Given the description of an element on the screen output the (x, y) to click on. 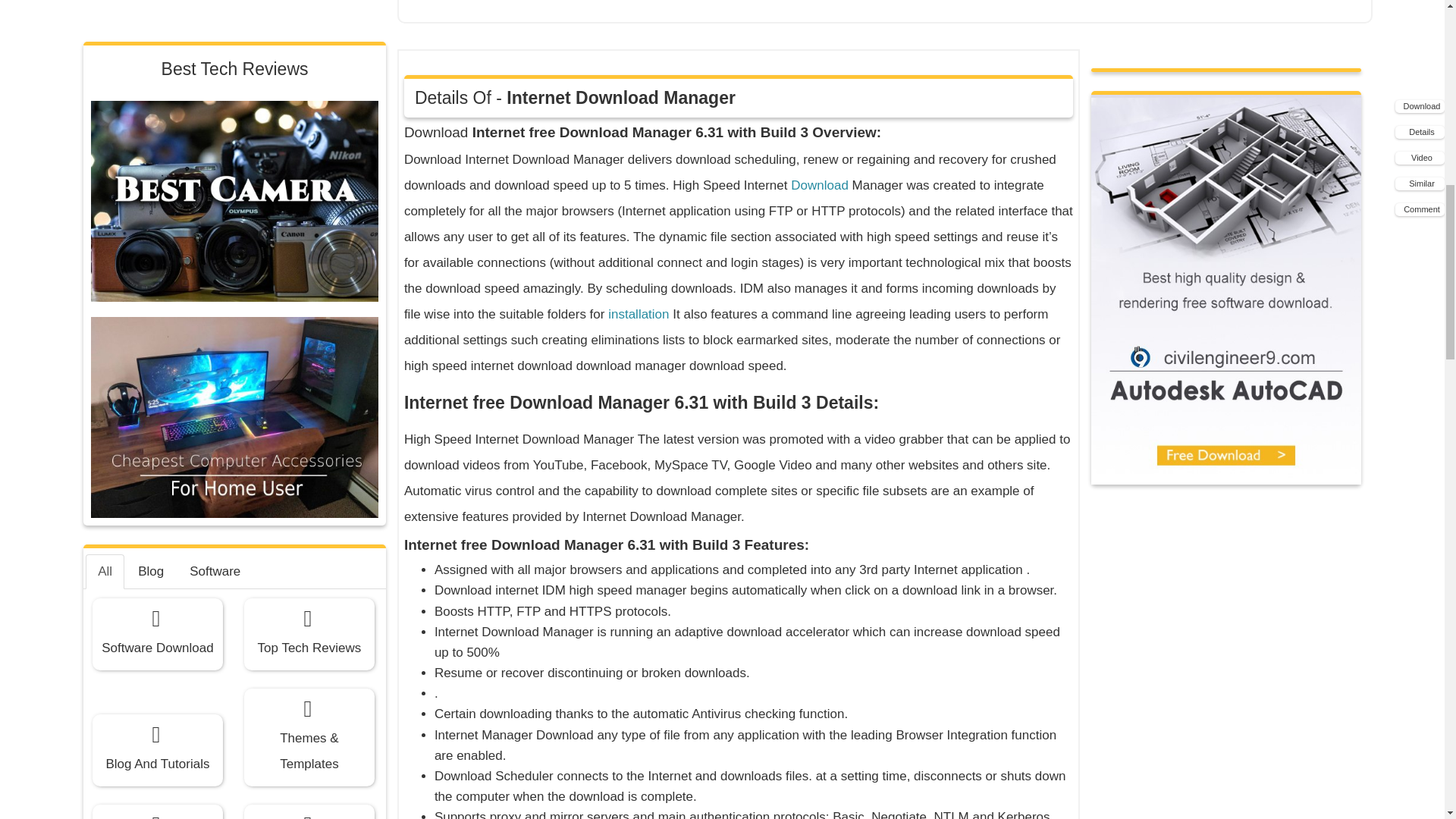
Software Download (157, 127)
Advertisement (872, 7)
Free Learn SoftGudam (309, 346)
All (104, 64)
Business Promotion (157, 346)
Blog (150, 64)
Top Tech Reviews (309, 127)
Blog And Tutorials (157, 244)
Software (214, 64)
